Given the description of an element on the screen output the (x, y) to click on. 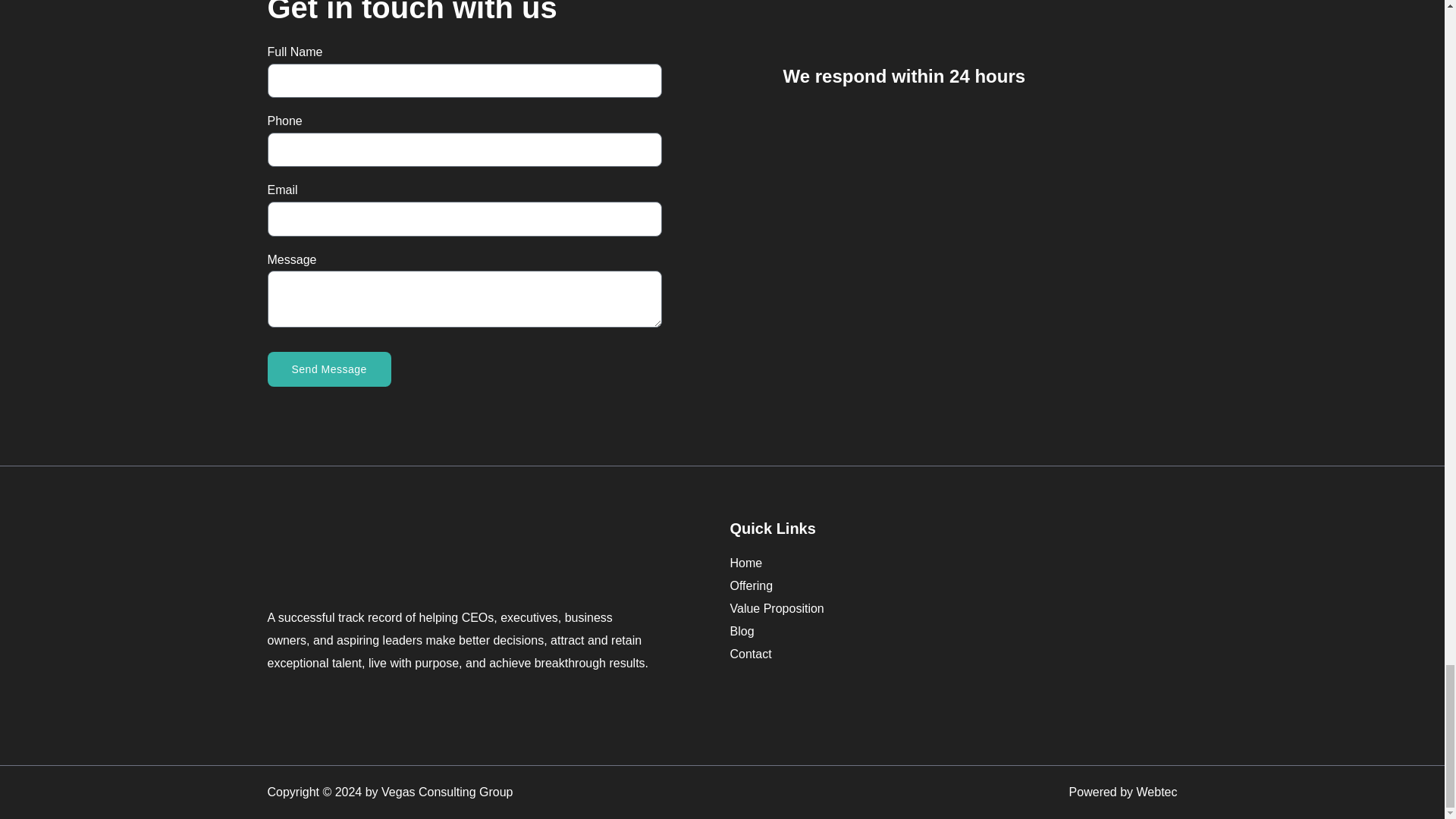
Home (949, 563)
Value Proposition (949, 608)
Offering (949, 585)
Send Message (328, 369)
